Given the description of an element on the screen output the (x, y) to click on. 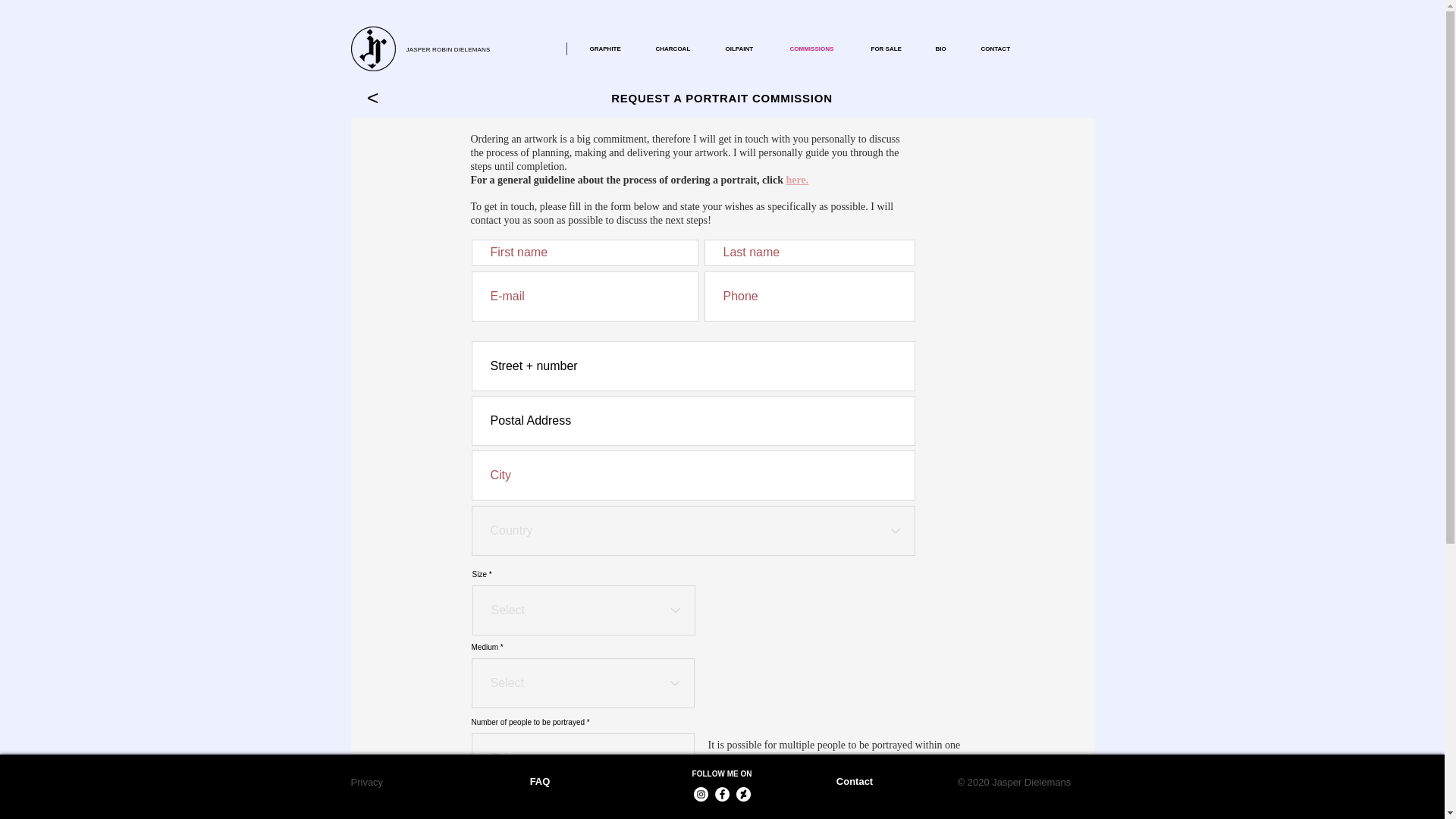
Contact (853, 781)
here. (797, 179)
Privacy (366, 781)
FOR SALE (892, 48)
CHARCOAL (679, 48)
CONTACT (1000, 48)
JASPER ROBIN DIELEMANS (448, 46)
OILPAINT (746, 48)
FOLLOW ME ON (722, 773)
COMMISSIONS (818, 48)
BIO (946, 48)
GRAPHITE (610, 48)
FAQ (539, 781)
